Given the description of an element on the screen output the (x, y) to click on. 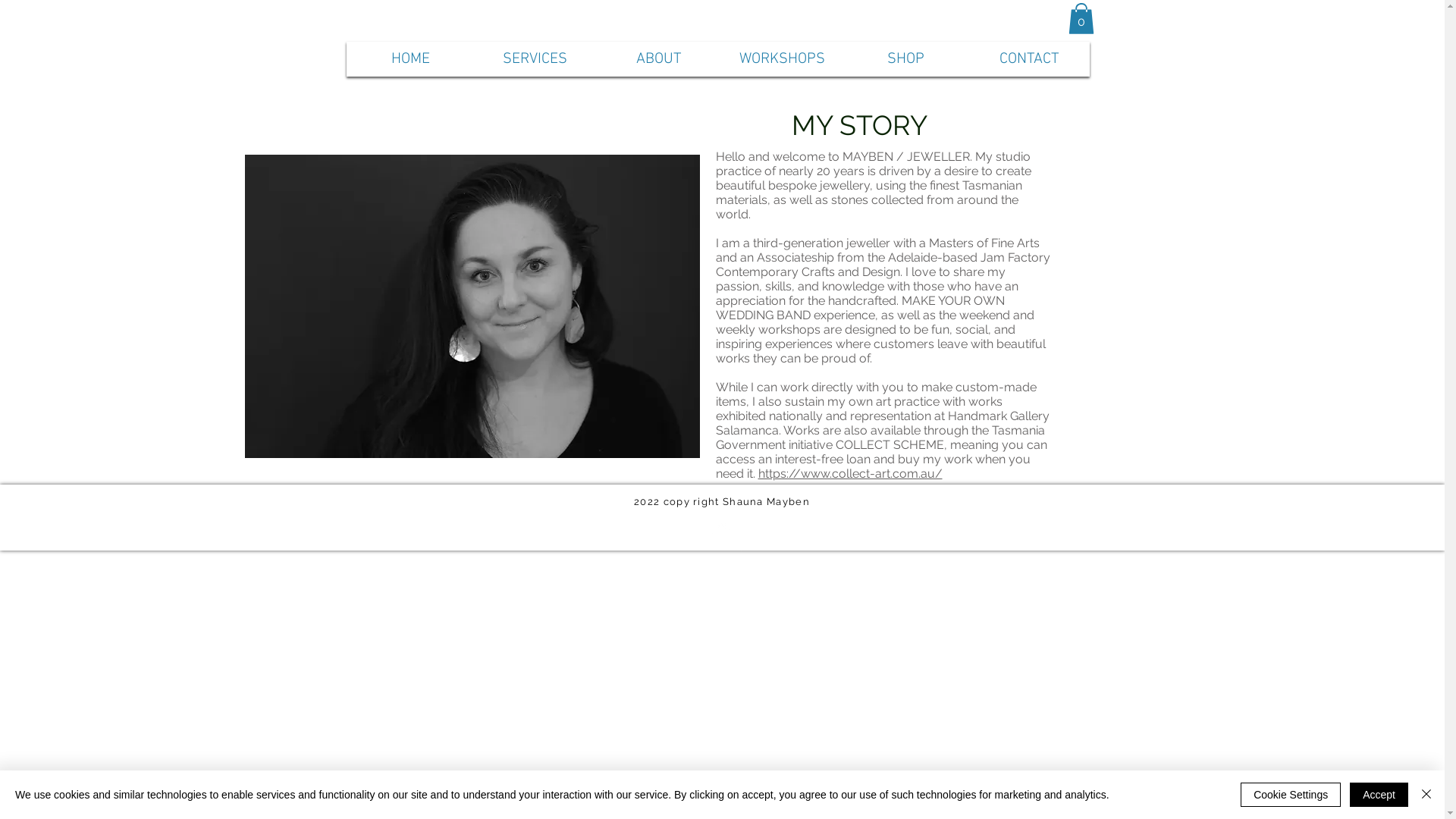
WORKSHOPS Element type: text (781, 59)
HOME Element type: text (410, 59)
Cookie Settings Element type: text (1290, 794)
SERVICES Element type: text (534, 59)
Back to Top Element type: text (721, 546)
SHOP Element type: text (906, 59)
https://www.collect-art.com.au/ Element type: text (850, 473)
0 Element type: text (1080, 18)
Accept Element type: text (1378, 794)
CONTACT Element type: text (1028, 59)
